Given the description of an element on the screen output the (x, y) to click on. 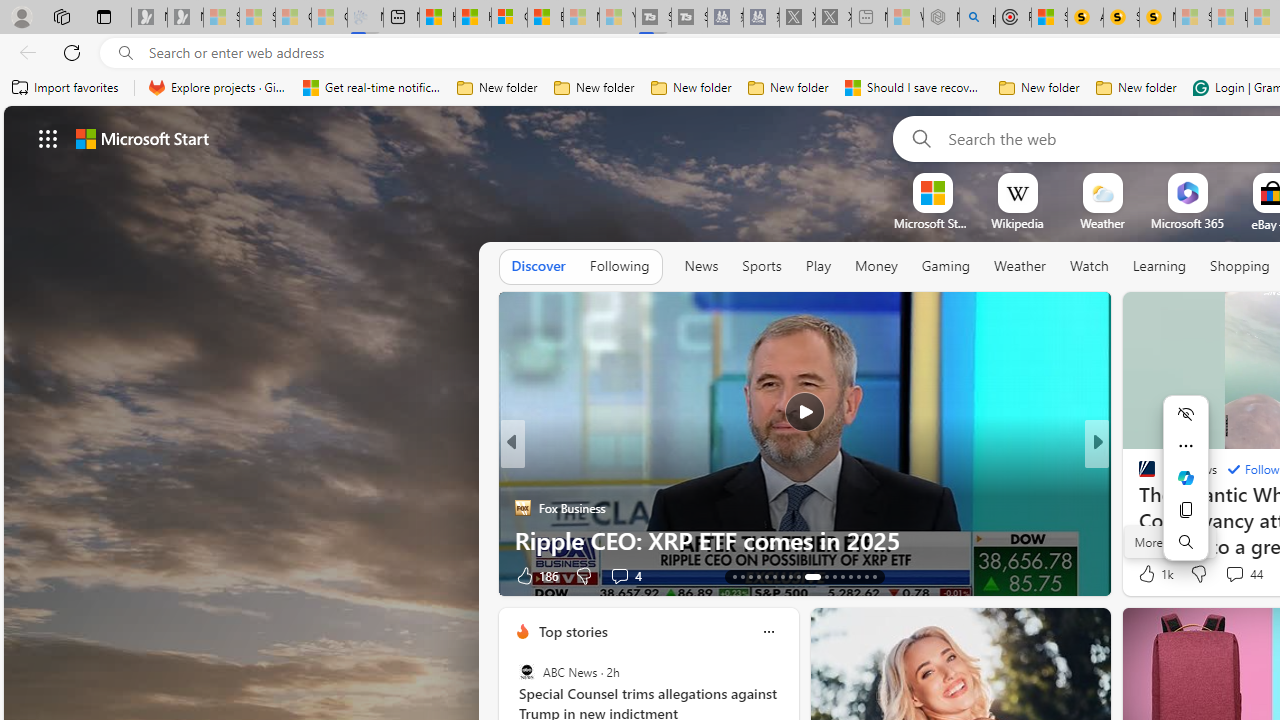
Ripple CEO: XRP ETF comes in 2025 (804, 539)
More actions (1185, 445)
AutomationID: tab-13 (733, 576)
Play (818, 267)
Workspaces (61, 16)
Gaming (945, 265)
More options (768, 631)
Copy (1185, 509)
Play (817, 265)
View comments 44 Comment (1243, 574)
Microsoft Start - Sleeping (581, 17)
Search icon (125, 53)
View comments 191 Comment (11, 575)
AutomationID: tab-14 (742, 576)
AutomationID: tab-22 (812, 576)
